Given the description of an element on the screen output the (x, y) to click on. 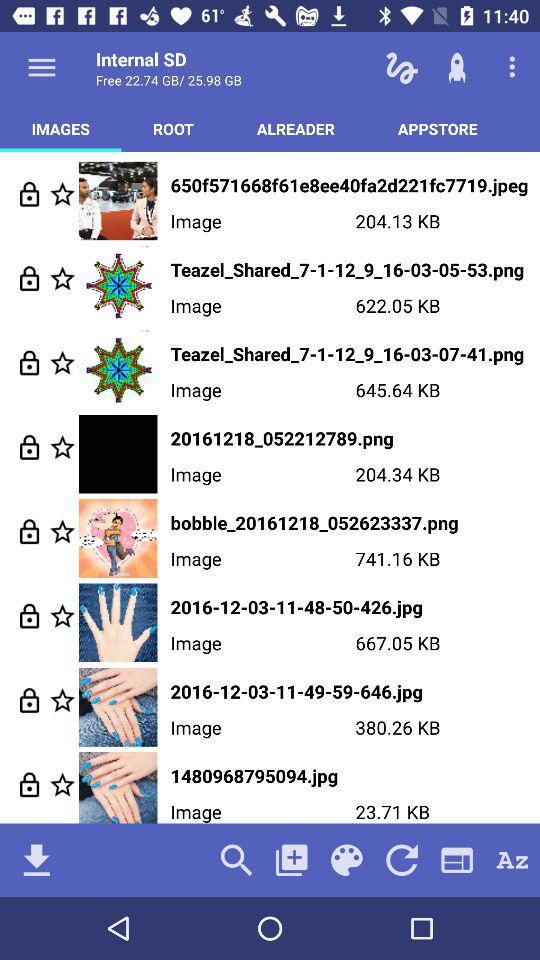
lock in your selection (29, 446)
